Given the description of an element on the screen output the (x, y) to click on. 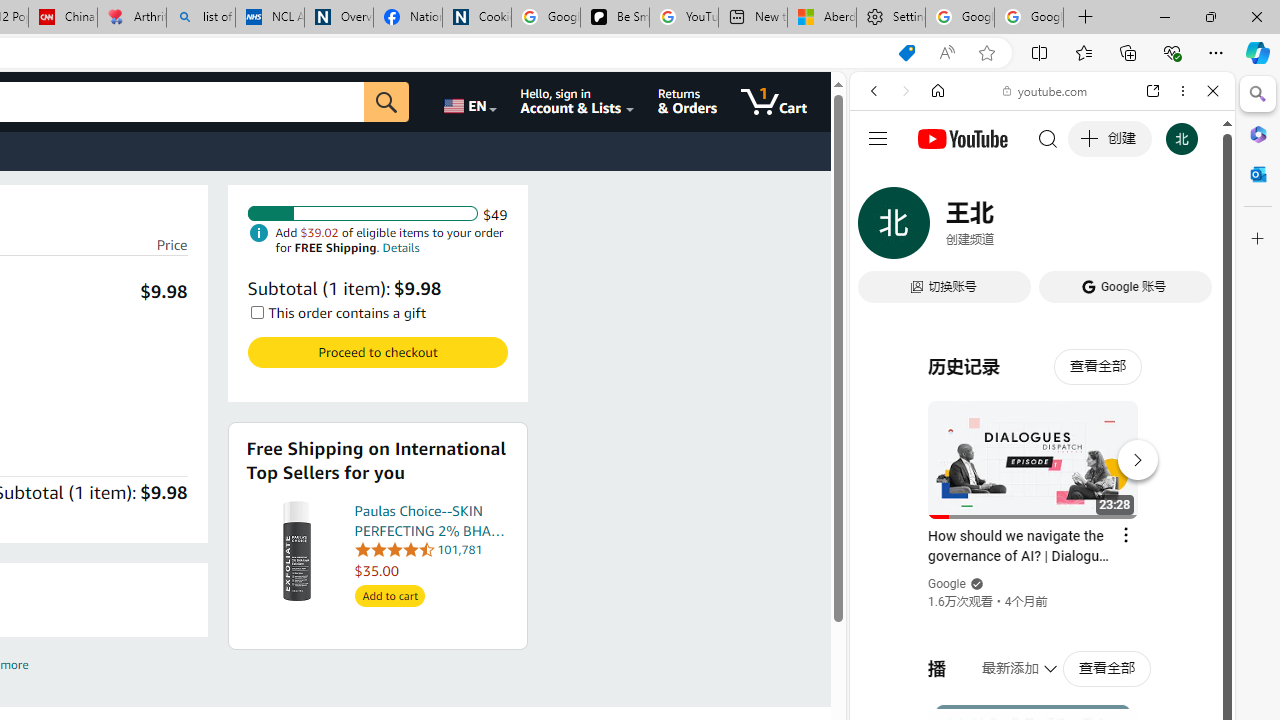
Add to cart (389, 596)
Cookies (476, 17)
